Given the description of an element on the screen output the (x, y) to click on. 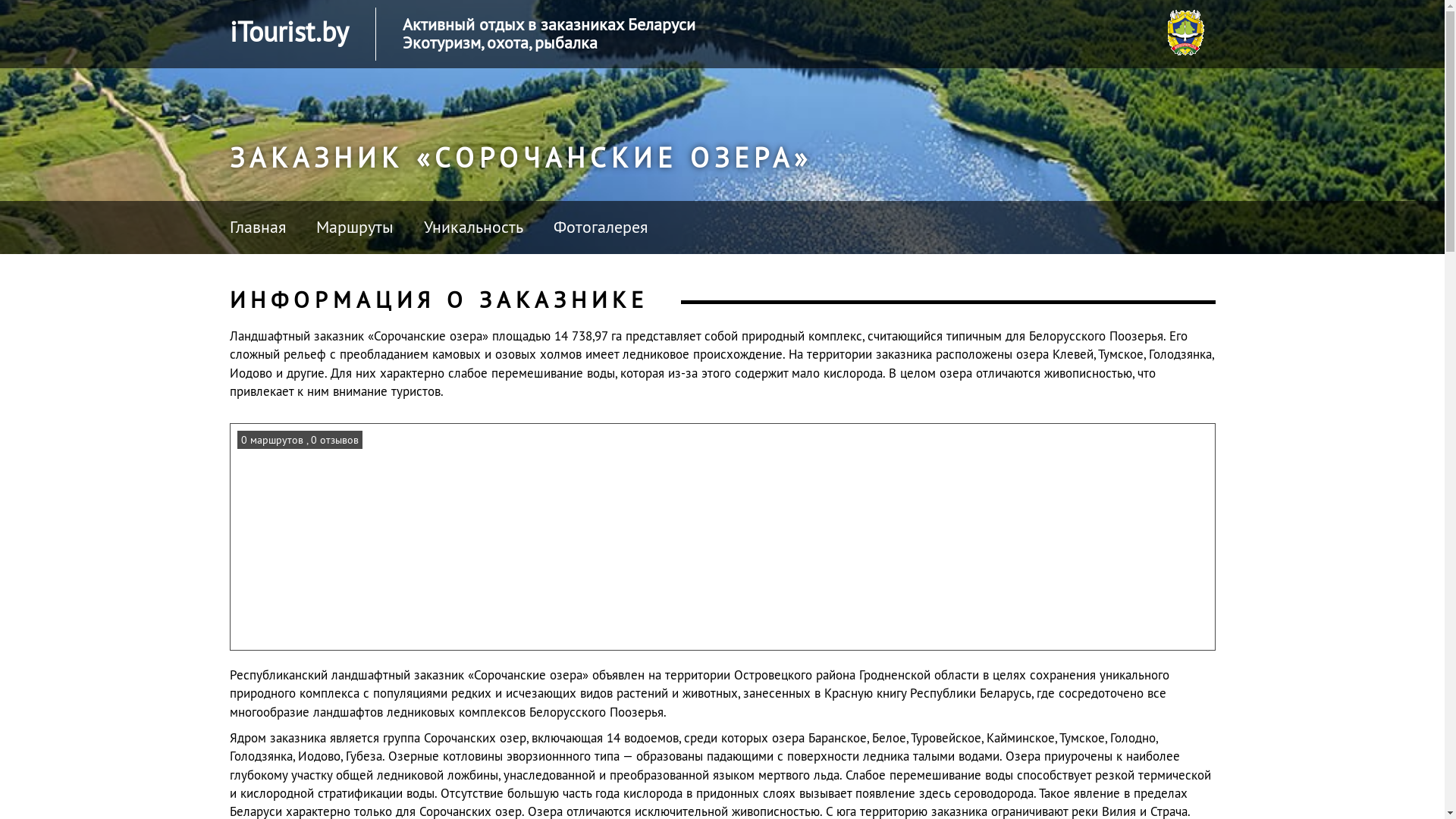
iTourist.by Element type: text (288, 31)
